Given the description of an element on the screen output the (x, y) to click on. 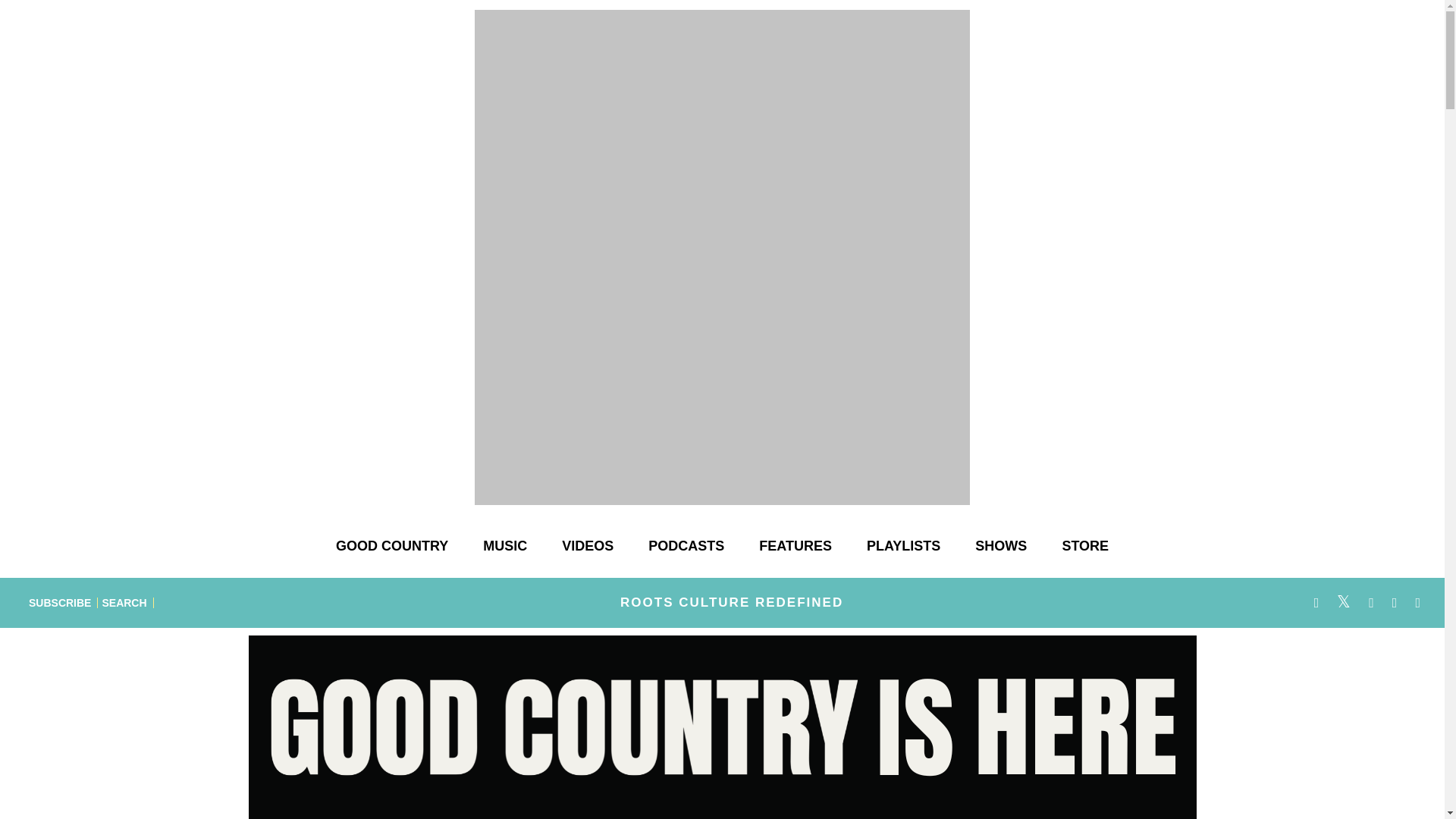
FEATURES (795, 545)
VIDEOS (588, 545)
GOOD COUNTRY (391, 545)
MUSIC (504, 545)
SUBSCRIBE (60, 602)
STORE (1085, 545)
SHOWS (1000, 545)
PLAYLISTS (903, 545)
PODCASTS (686, 545)
SEARCH (124, 602)
